Given the description of an element on the screen output the (x, y) to click on. 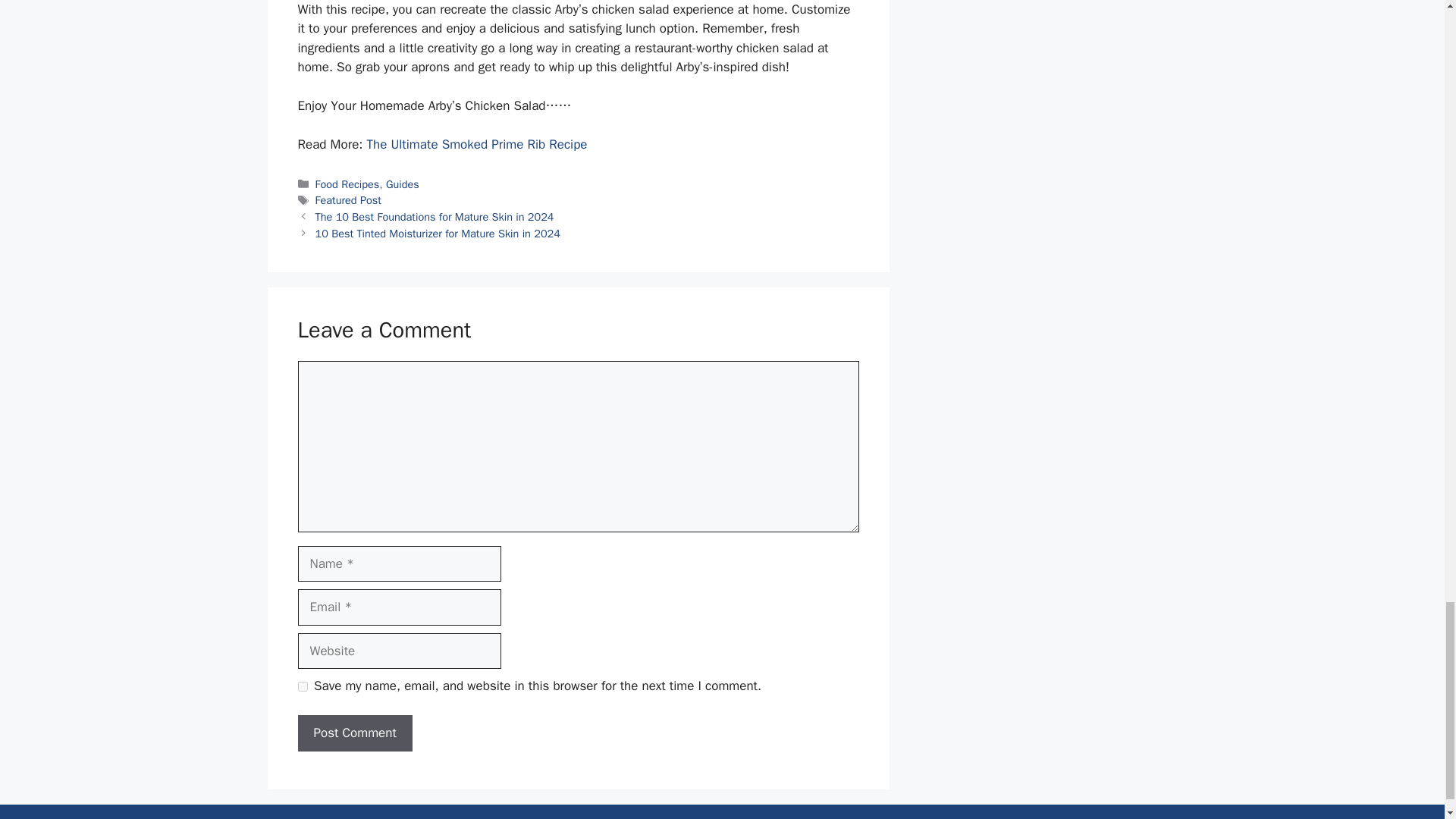
Post Comment (354, 732)
Post Comment (354, 732)
The Ultimate Smoked Prime Rib Recipe (477, 144)
yes (302, 685)
Featured Post (348, 200)
Guides (402, 183)
Food Recipes (347, 183)
10 Best Tinted Moisturizer for Mature Skin in 2024 (437, 233)
The 10 Best Foundations for Mature Skin in 2024 (434, 216)
